Given the description of an element on the screen output the (x, y) to click on. 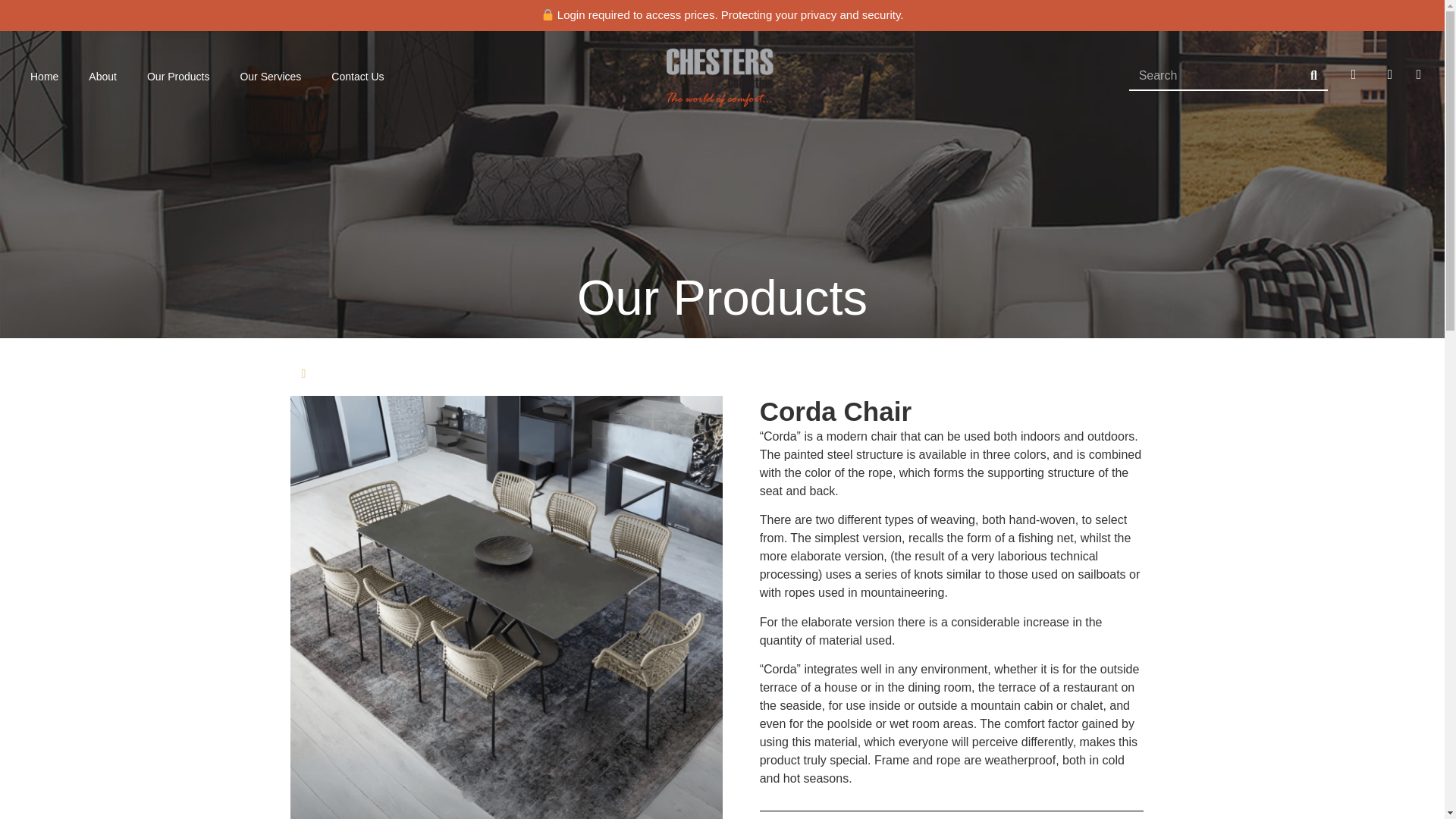
Our Services (269, 76)
Home (44, 76)
Our Products (178, 76)
Contact Us (356, 76)
About (103, 76)
